Given the description of an element on the screen output the (x, y) to click on. 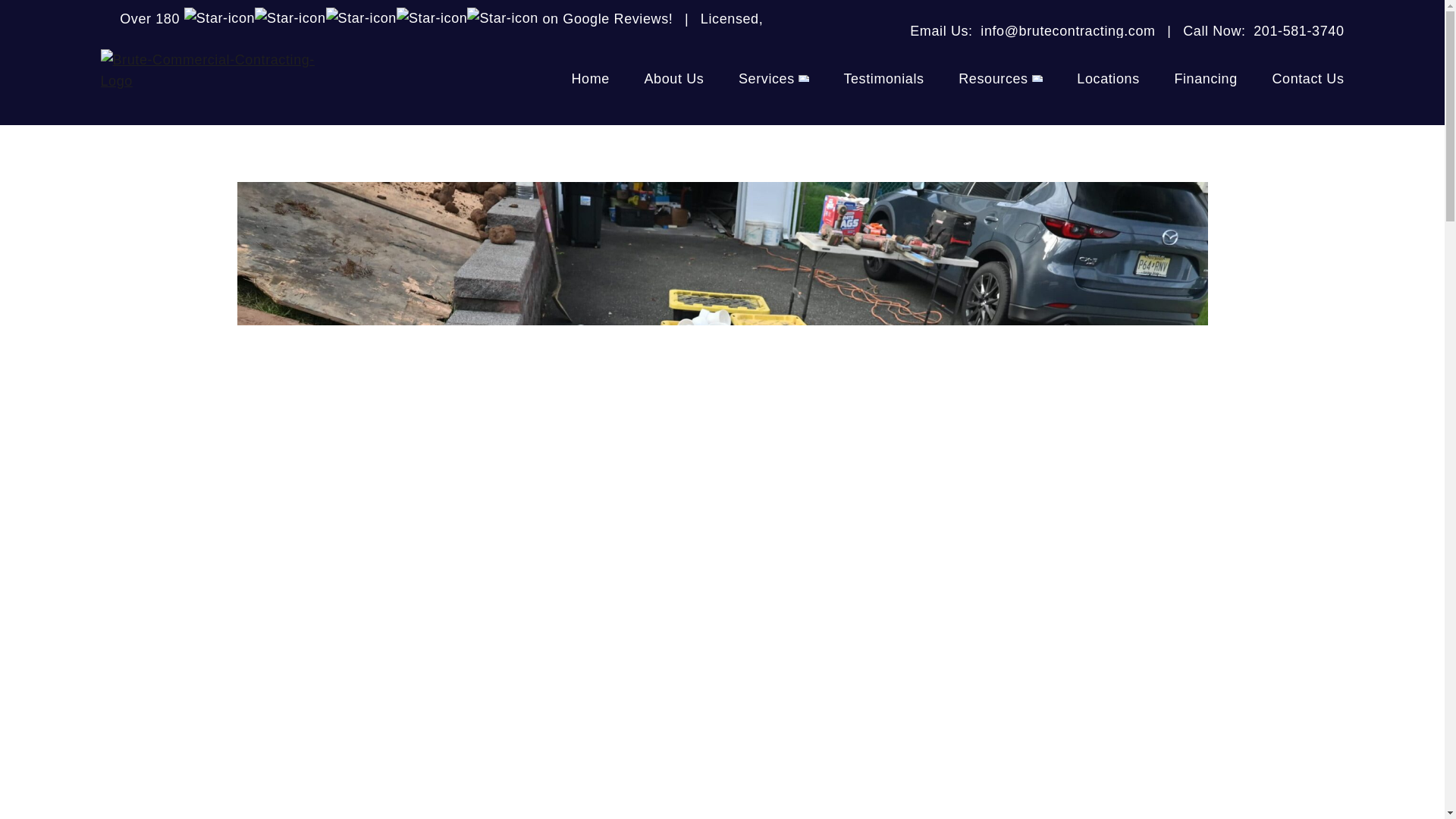
Services (773, 81)
Call Now: 201-581-3740 (1262, 29)
About Us (673, 81)
